Given the description of an element on the screen output the (x, y) to click on. 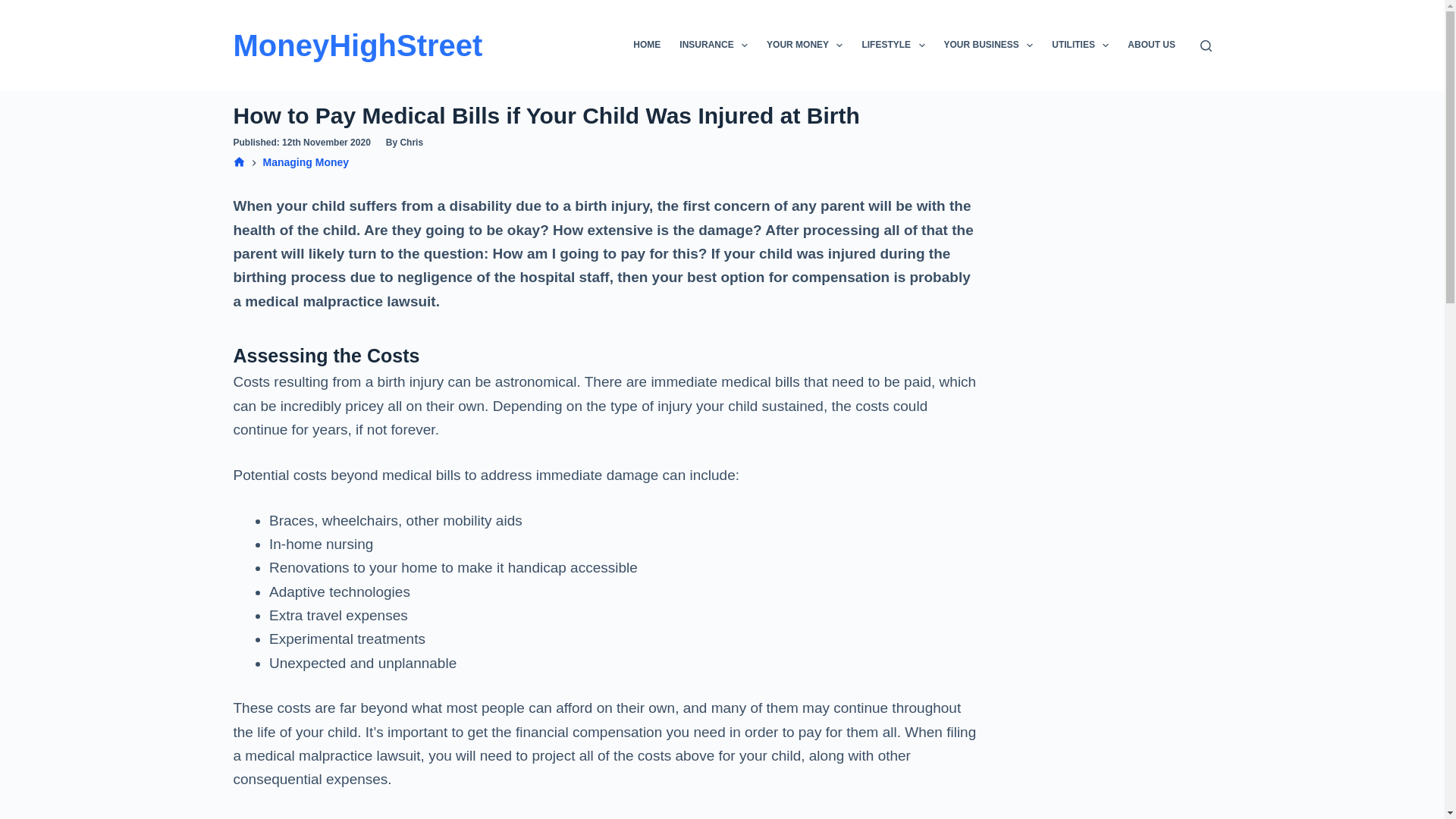
Posts by Chris (410, 142)
How to Pay Medical Bills if Your Child Was Injured at Birth (604, 115)
Skip to content (15, 7)
